Given the description of an element on the screen output the (x, y) to click on. 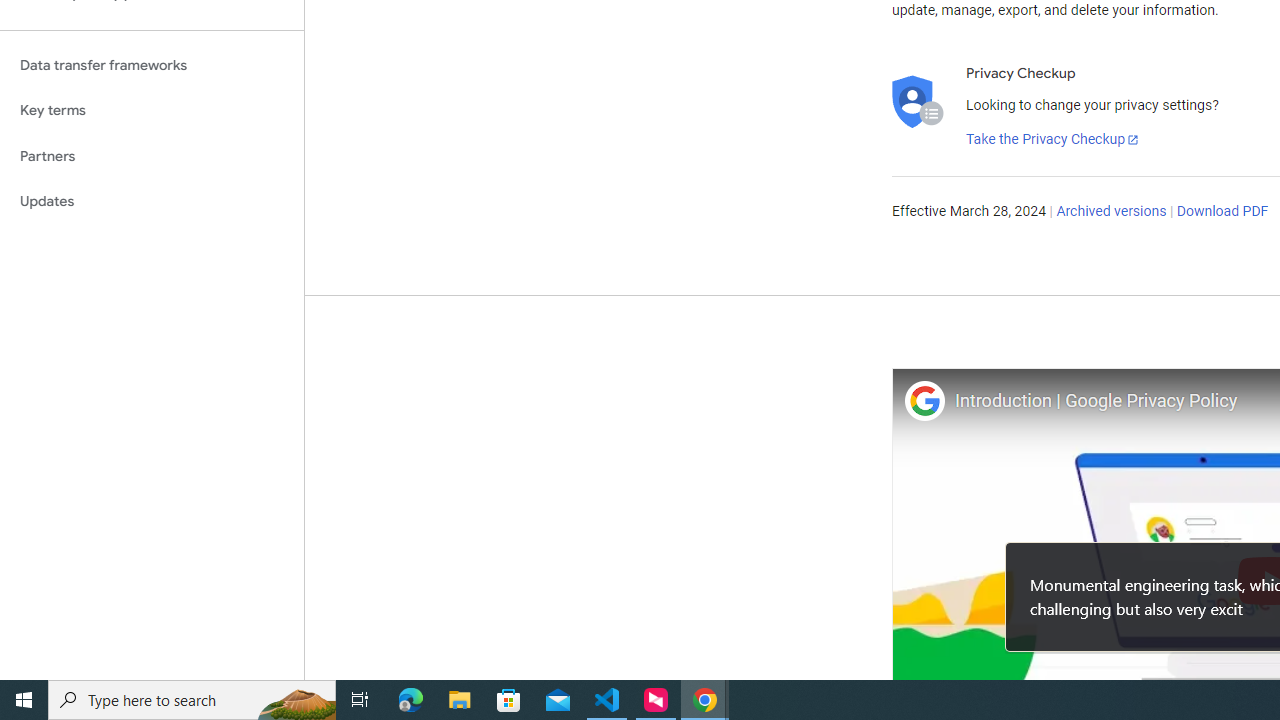
Photo image of Google (924, 400)
Take the Privacy Checkup (1053, 140)
